Given the description of an element on the screen output the (x, y) to click on. 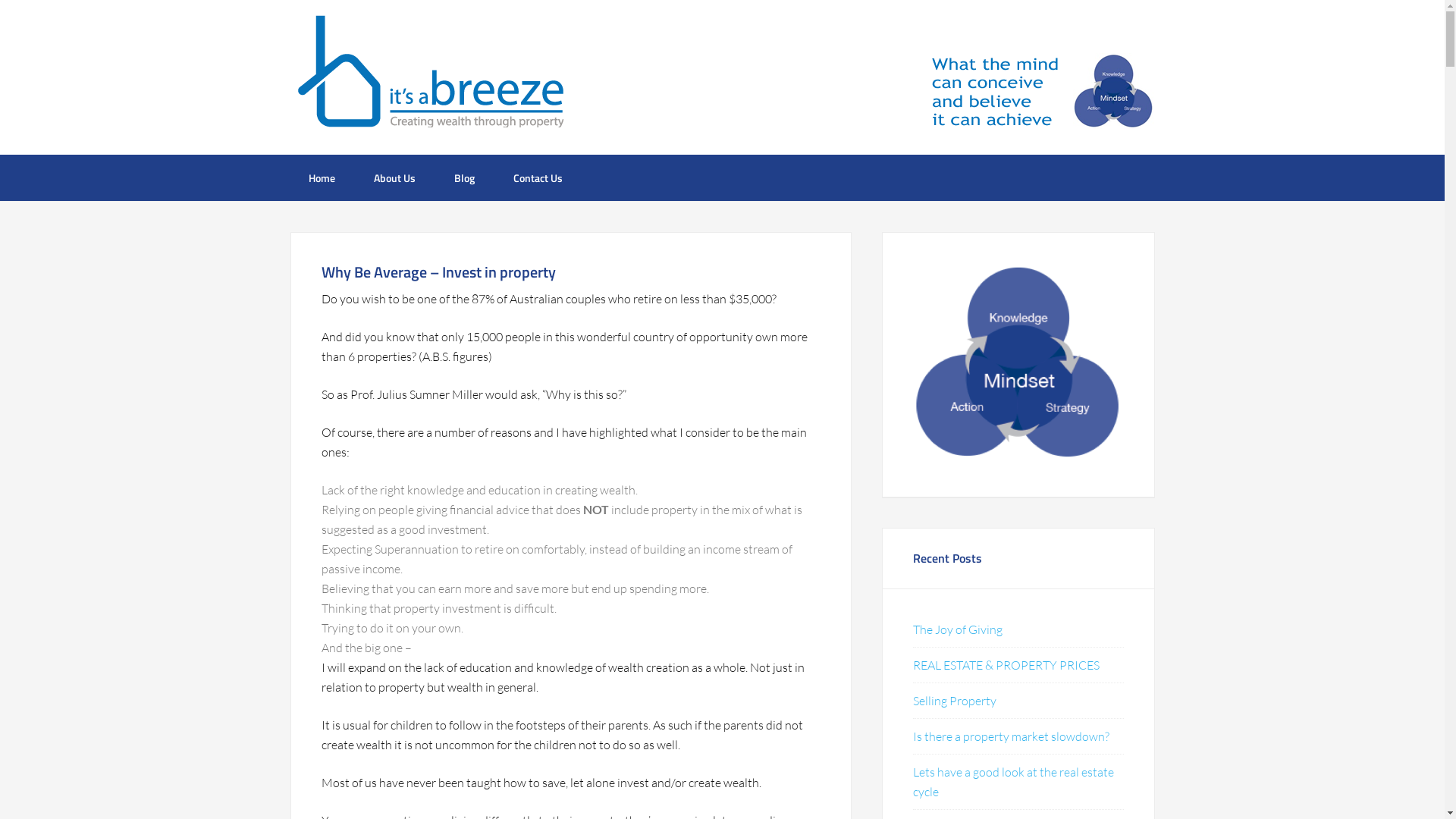
The Joy of Giving Element type: text (957, 629)
Contact Us Element type: text (537, 177)
Lets have a good look at the real estate cycle Element type: text (1013, 781)
It's A Breeze Element type: text (429, 75)
Selling Property Element type: text (954, 700)
About Us Element type: text (393, 177)
Home Element type: text (320, 177)
Blog Element type: text (463, 177)
Is there a property market slowdown? Element type: text (1011, 735)
REAL ESTATE & PROPERTY PRICES Element type: text (1006, 664)
